Given the description of an element on the screen output the (x, y) to click on. 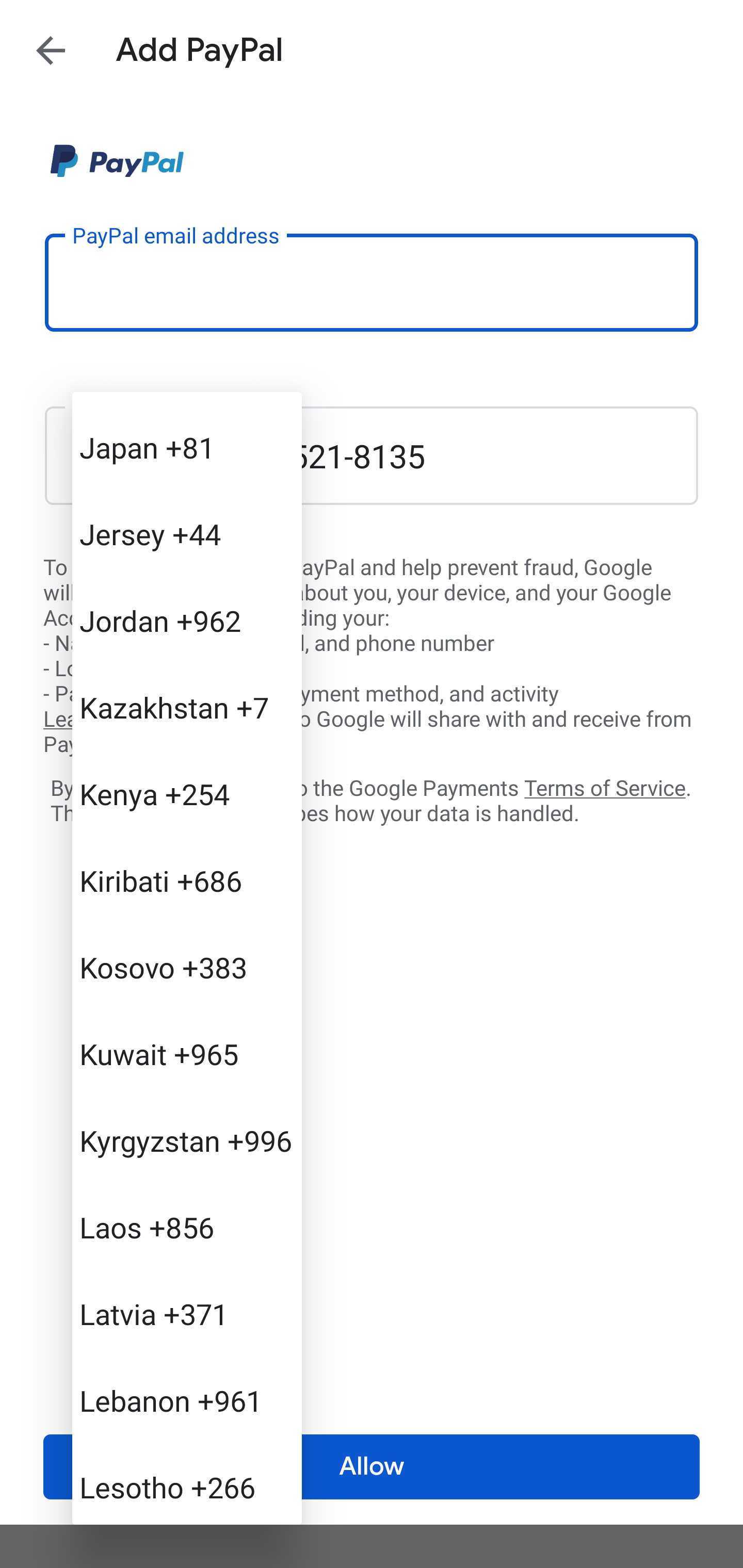
Japan +81 (186, 447)
Jersey +44 (186, 533)
Jordan +962 (186, 620)
Kazakhstan +7 (186, 707)
Kenya +254 (186, 794)
Kiribati +686 (186, 880)
Kosovo +383 (186, 966)
Kuwait +965 (186, 1053)
Kyrgyzstan +996 (186, 1140)
Laos +856 (186, 1226)
Latvia +371 (186, 1313)
Lebanon +961 (186, 1400)
Lesotho +266 (186, 1484)
